Given the description of an element on the screen output the (x, y) to click on. 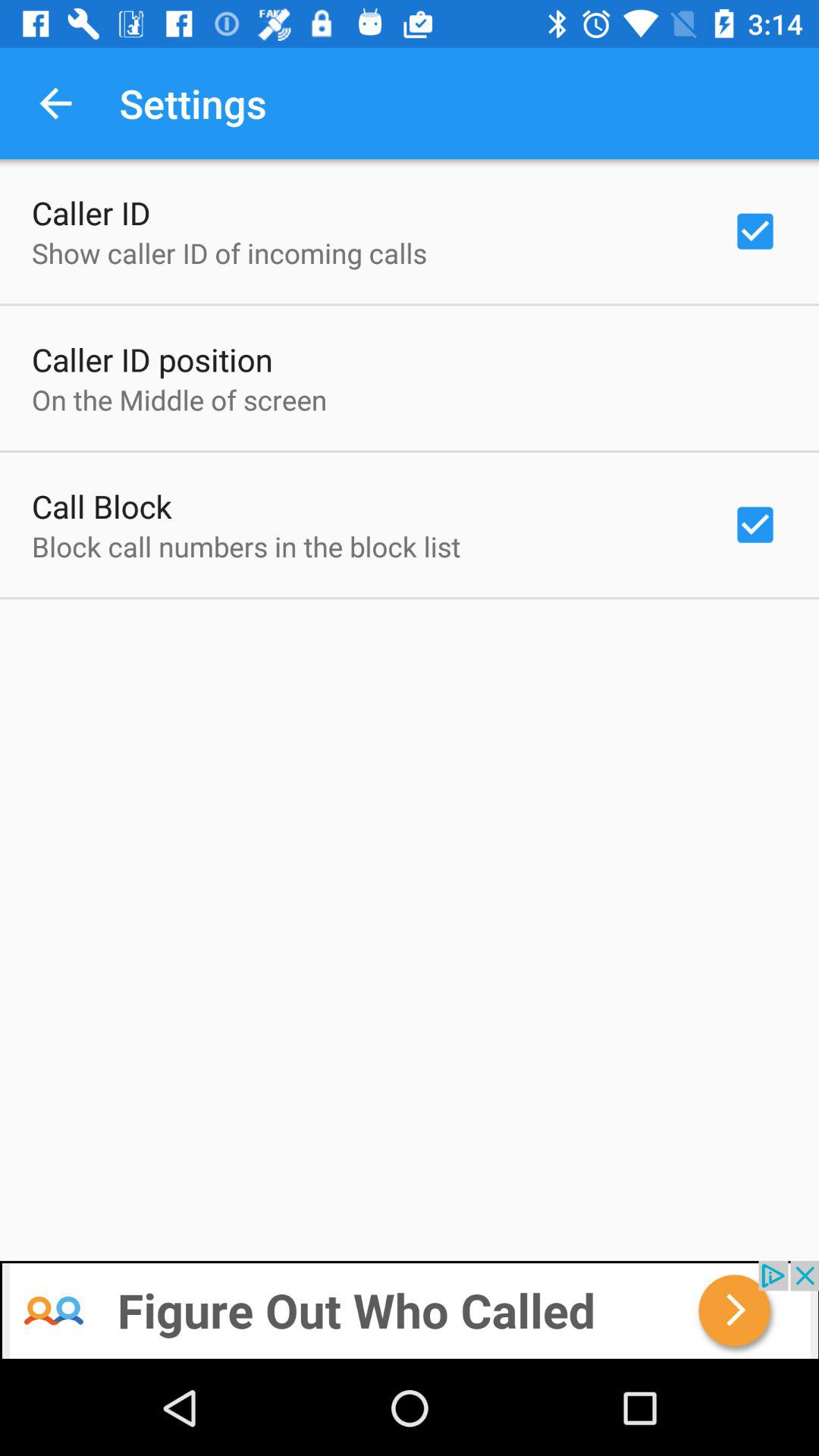
for advertisement (409, 1310)
